Given the description of an element on the screen output the (x, y) to click on. 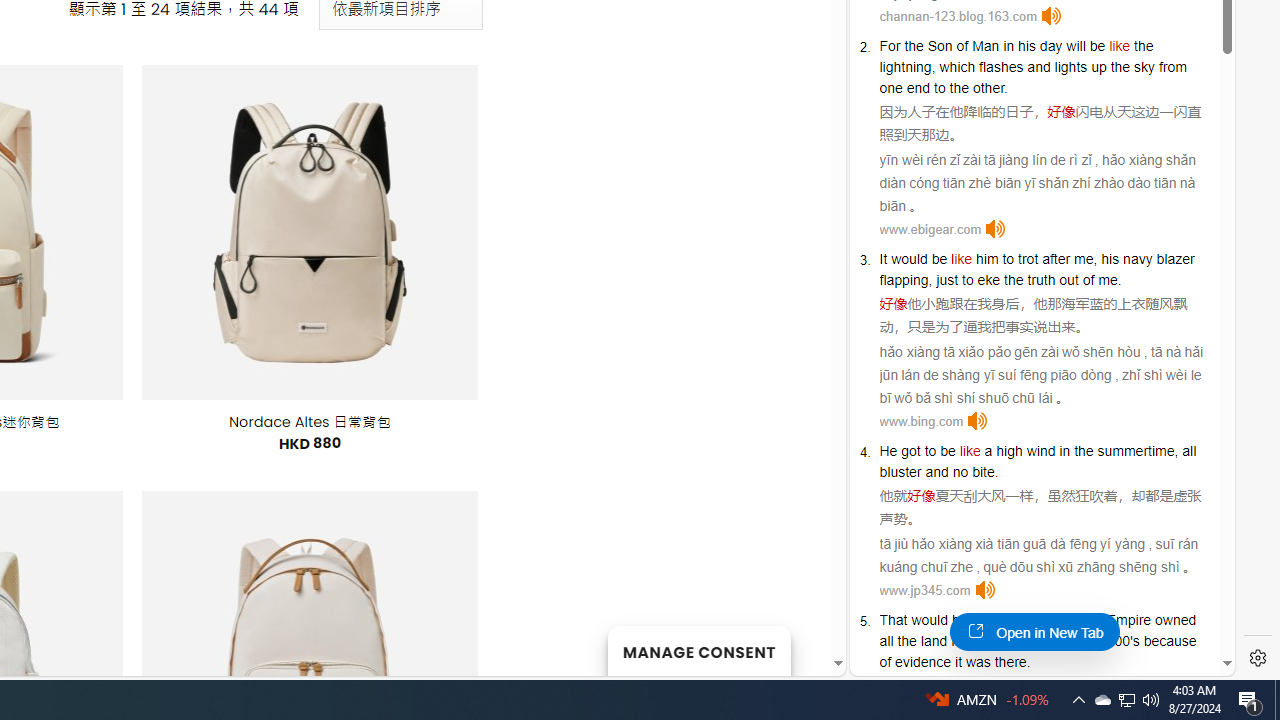
MANAGE CONSENT (698, 650)
other (987, 87)
after (1056, 259)
a (988, 450)
wind (1041, 450)
evidence (923, 661)
in (1032, 640)
the (1013, 280)
